Given the description of an element on the screen output the (x, y) to click on. 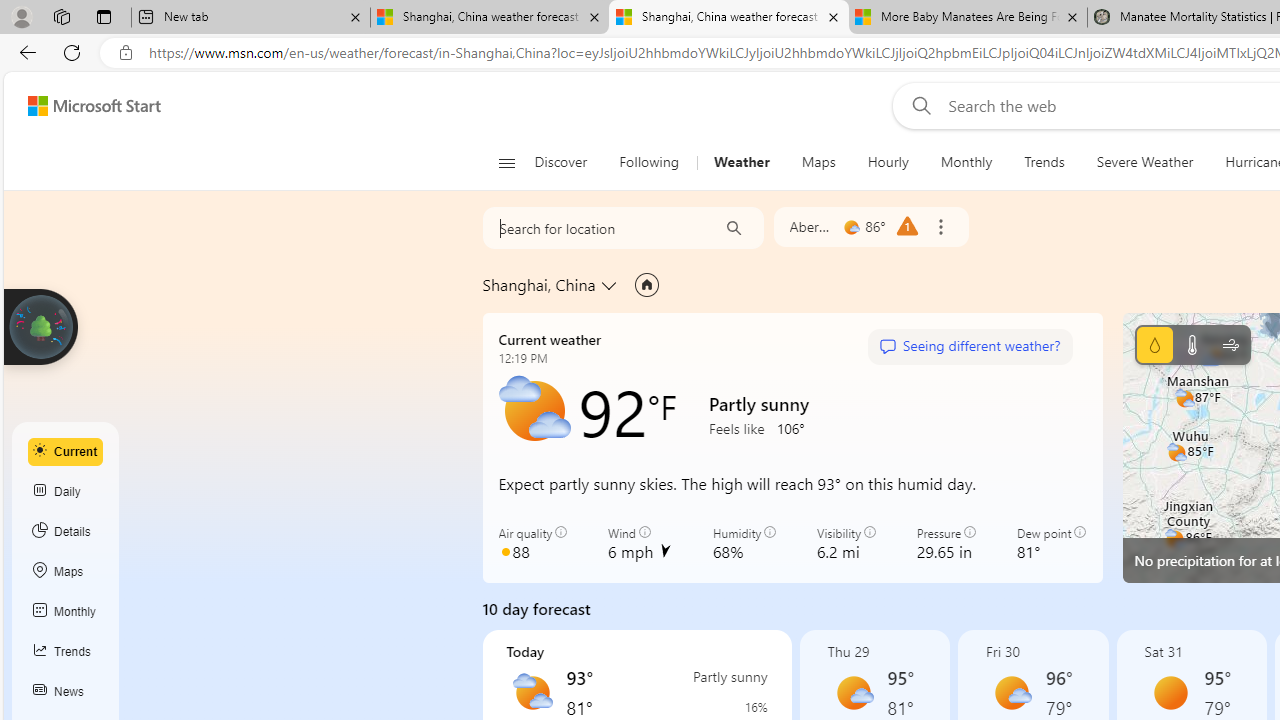
Trends (65, 651)
Seeing different weather? (969, 347)
Visibility 6.2 mi (845, 543)
Humidity 68% (743, 543)
Workspaces (61, 16)
Precipitation (1154, 344)
Weather (741, 162)
